Given the description of an element on the screen output the (x, y) to click on. 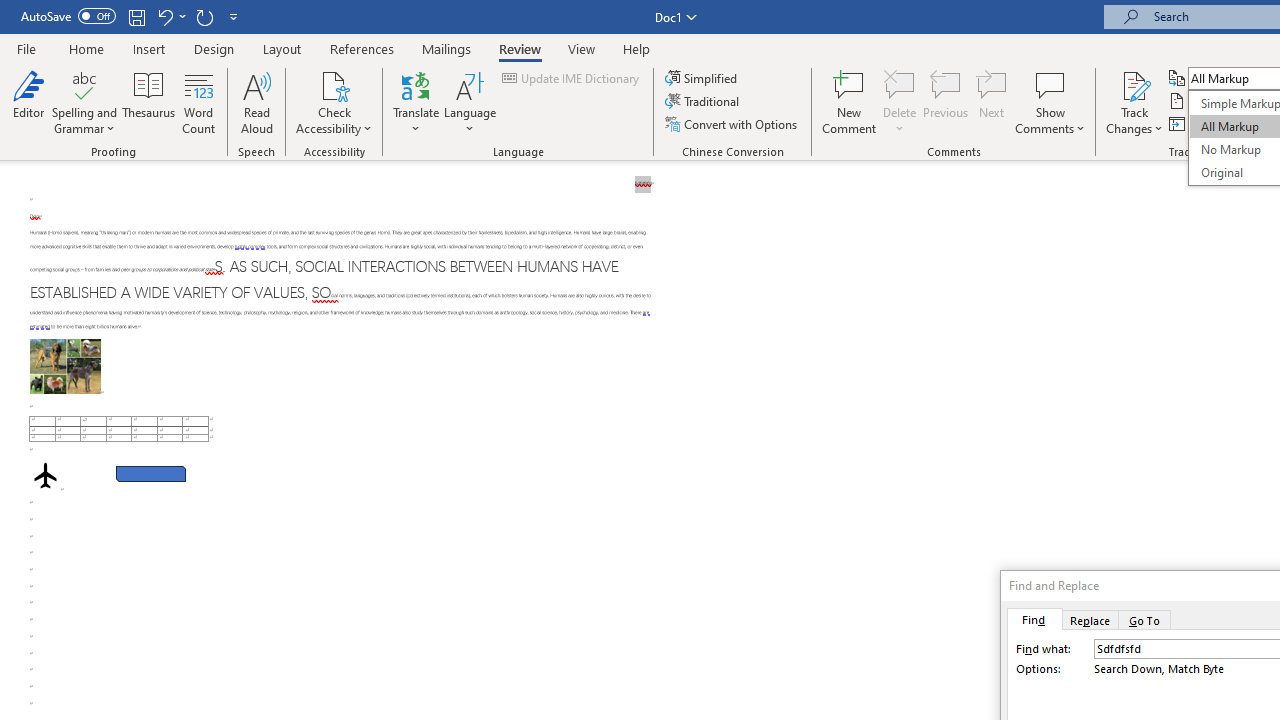
Go To (1145, 619)
Replace (1089, 619)
